Given the description of an element on the screen output the (x, y) to click on. 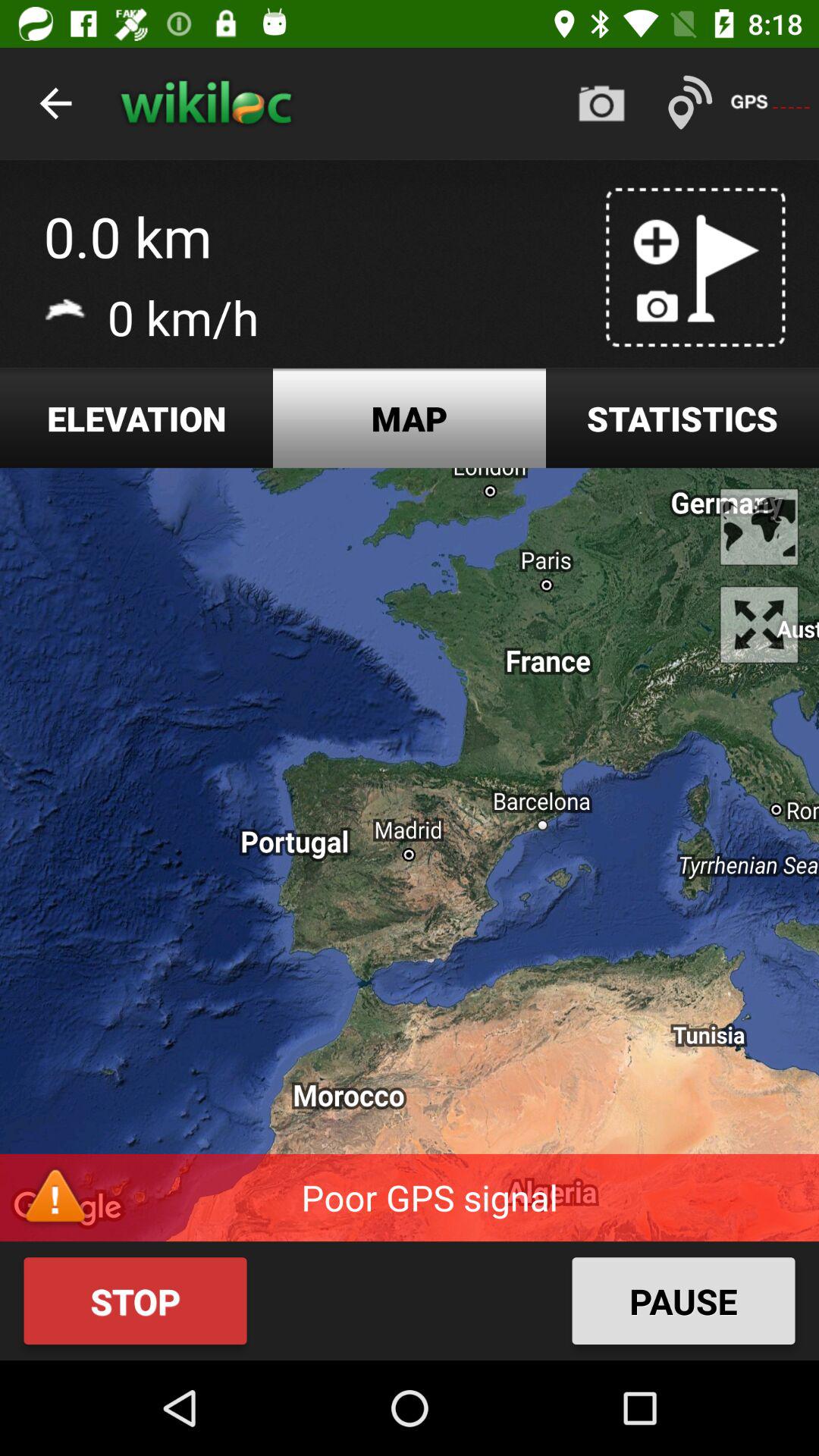
launch the button next to the map item (682, 418)
